Given the description of an element on the screen output the (x, y) to click on. 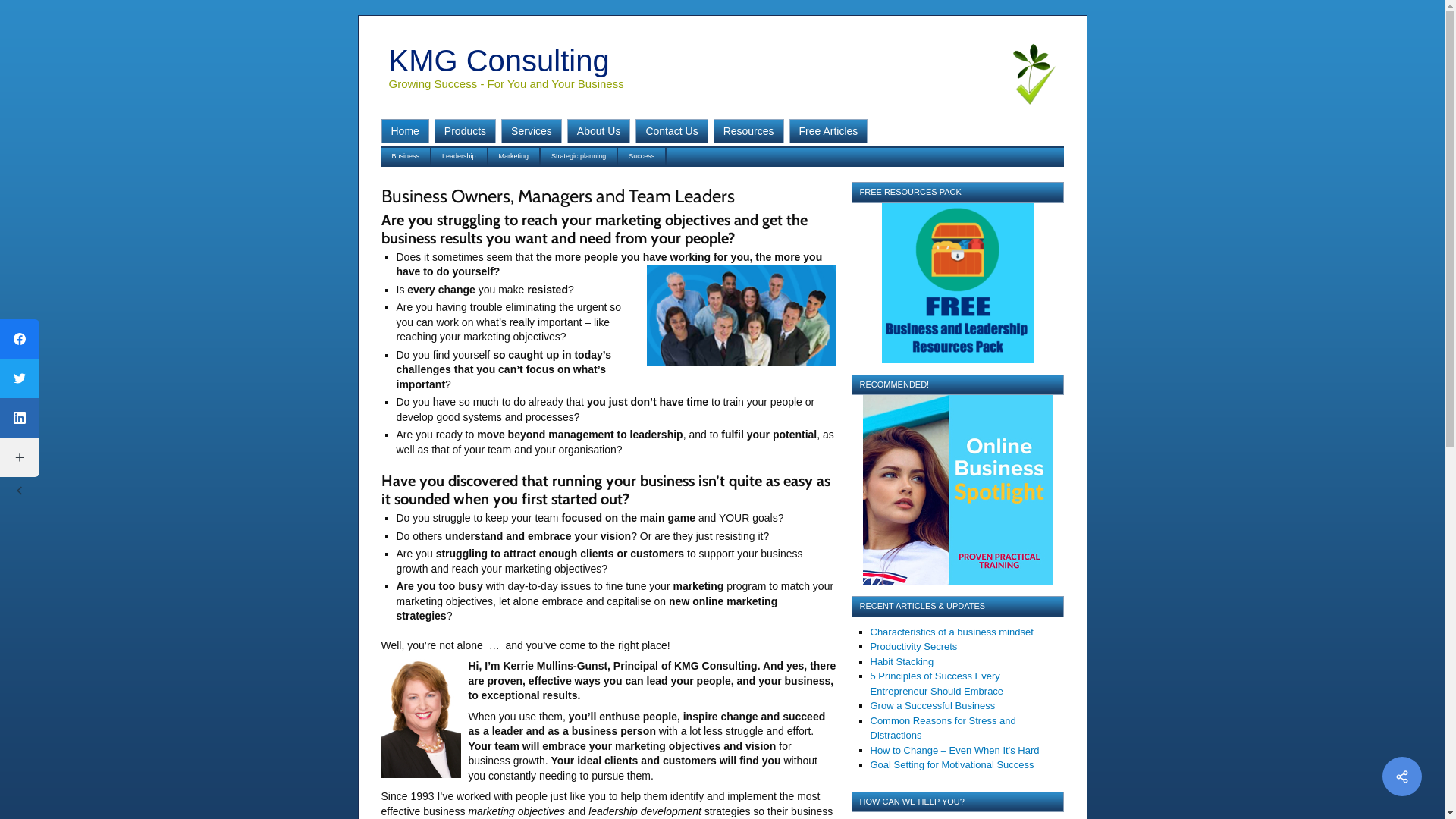
Services Element type: text (531, 131)
Business Element type: text (405, 156)
Leadership Element type: text (459, 156)
Marketing Element type: text (514, 156)
Success Element type: text (642, 156)
Habit Stacking Element type: text (902, 660)
Contact Us Element type: text (671, 131)
Grow a Successful Business Element type: text (932, 705)
Free Leadership Resources Pack Element type: hover (956, 283)
Products Element type: text (464, 131)
Home Element type: text (404, 131)
About Us Element type: text (598, 131)
Goal Setting for Motivational Success Element type: text (952, 764)
Free Articles Element type: text (828, 131)
Characteristics of a business mindset Element type: text (951, 631)
Productivity Secrets Element type: text (913, 646)
5 Principles of Success Every Entrepreneur Should Embrace Element type: text (937, 683)
Common Reasons for Stress and Distractions Element type: text (943, 727)
Recommended! Element type: hover (956, 489)
strategy and marketing consulting Element type: hover (740, 314)
Resources Element type: text (748, 131)
Strategic planning Element type: text (579, 156)
kerriemg-150x224 Element type: hover (420, 718)
KMG Consulting Element type: text (498, 60)
